Given the description of an element on the screen output the (x, y) to click on. 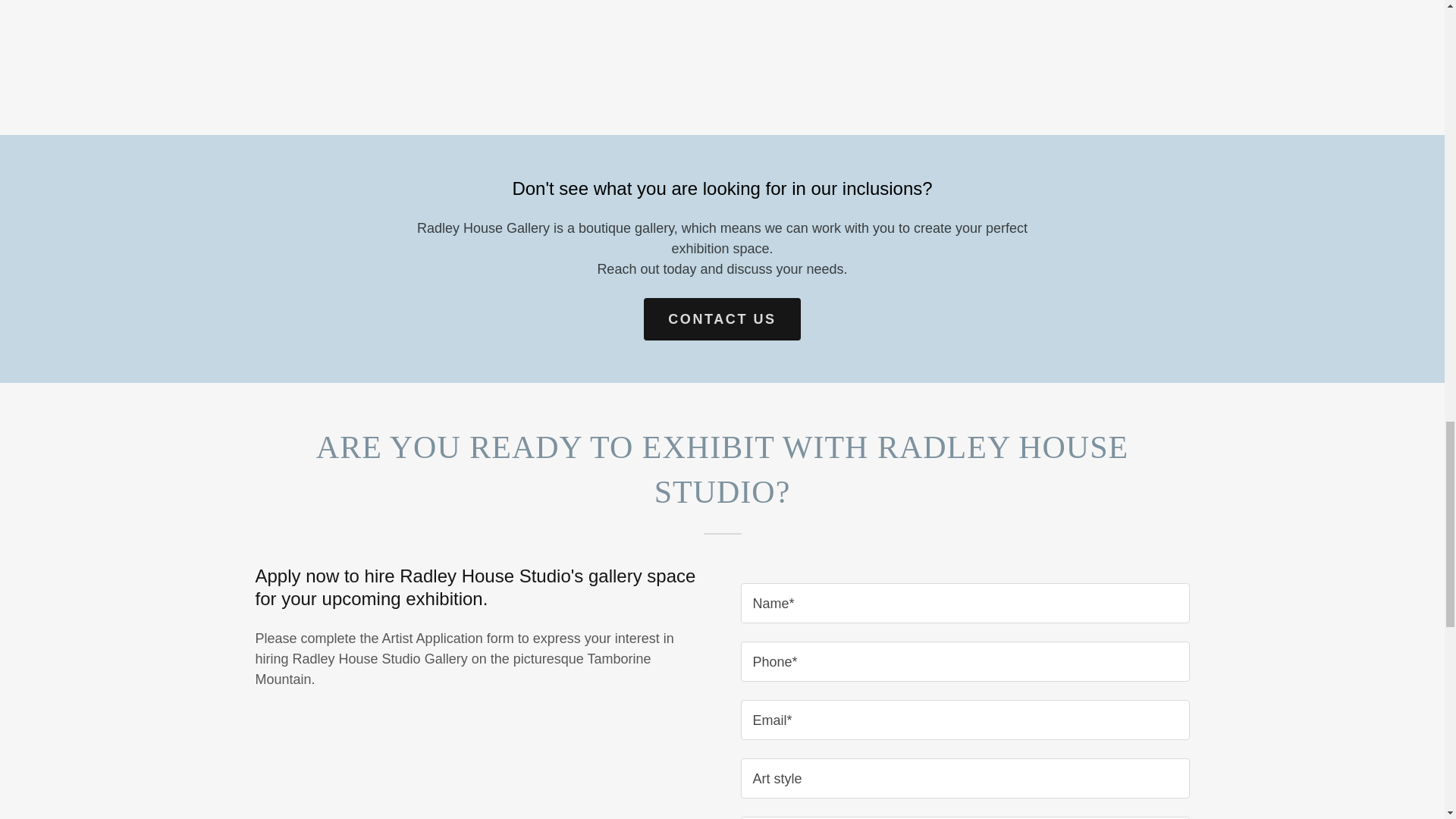
CONTACT US (721, 319)
